Given the description of an element on the screen output the (x, y) to click on. 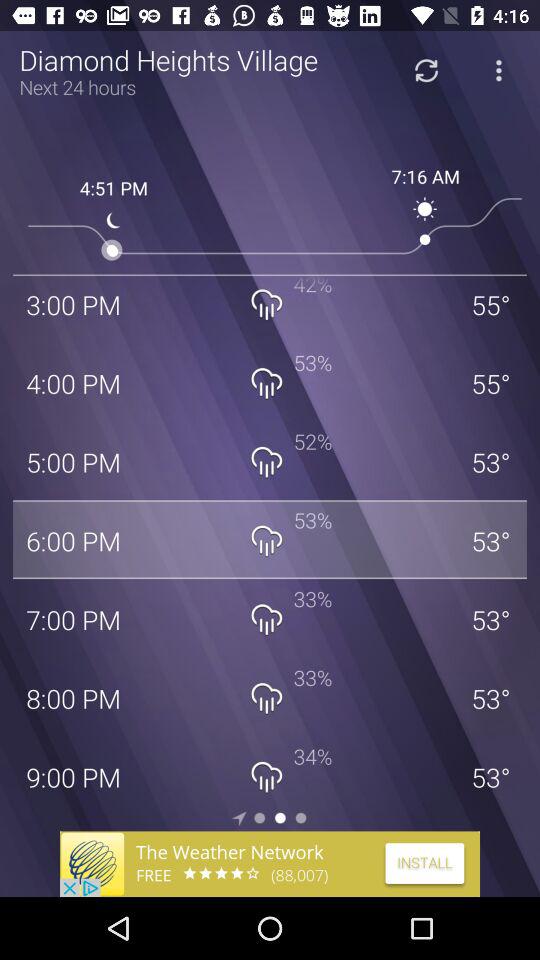
advertisement page (270, 864)
